Given the description of an element on the screen output the (x, y) to click on. 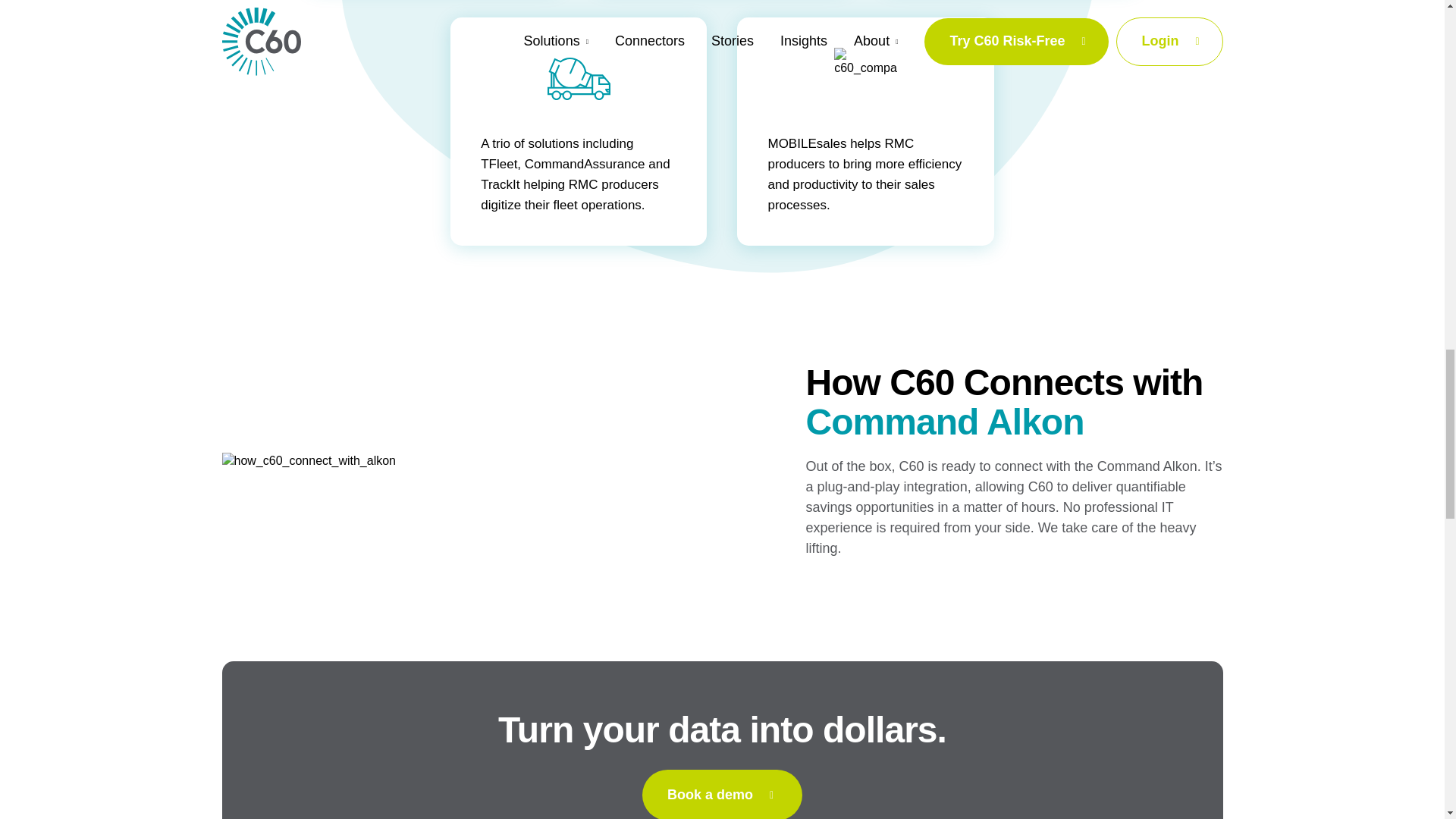
Book a demo (722, 794)
